Given the description of an element on the screen output the (x, y) to click on. 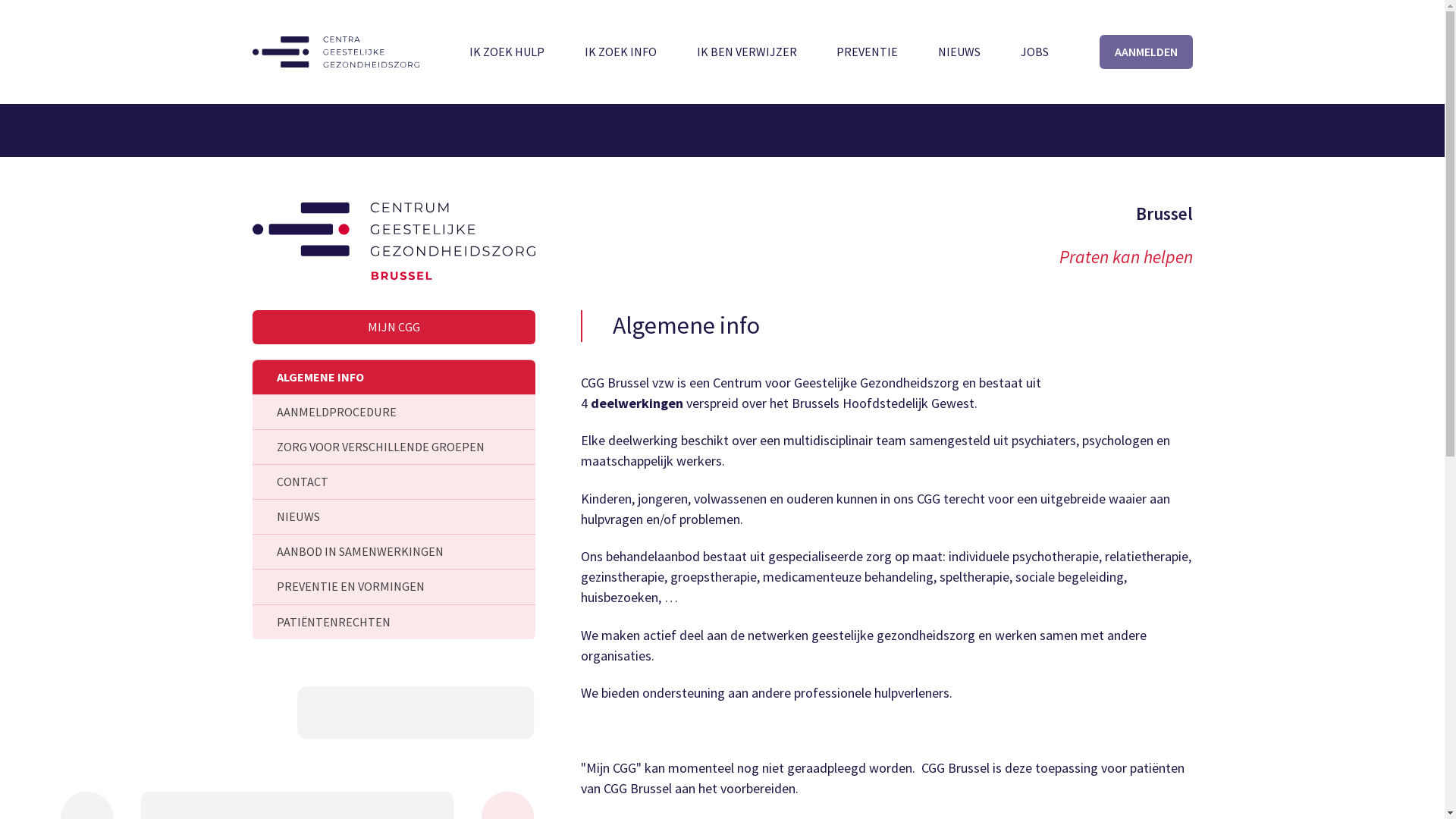
ALGEMENE INFO Element type: text (392, 377)
IK BEN VERWIJZER Element type: text (746, 51)
PREVENTIE EN VORMINGEN Element type: text (392, 586)
IK ZOEK HULP Element type: text (506, 51)
NIEUWS Element type: text (958, 51)
Overslaan en naar de inhoud gaan Element type: text (0, 0)
t--Home Element type: hover (334, 51)
AANBOD IN SAMENWERKINGEN Element type: text (392, 551)
CONTACT Element type: text (392, 481)
IK ZOEK INFO Element type: text (620, 51)
JOBS Element type: text (1034, 51)
ZORG VOOR VERSCHILLENDE GROEPEN Element type: text (392, 446)
PREVENTIE Element type: text (866, 51)
NIEUWS Element type: text (392, 516)
AANMELDPROCEDURE Element type: text (392, 412)
MIJN CGG Element type: text (392, 327)
